Given the description of an element on the screen output the (x, y) to click on. 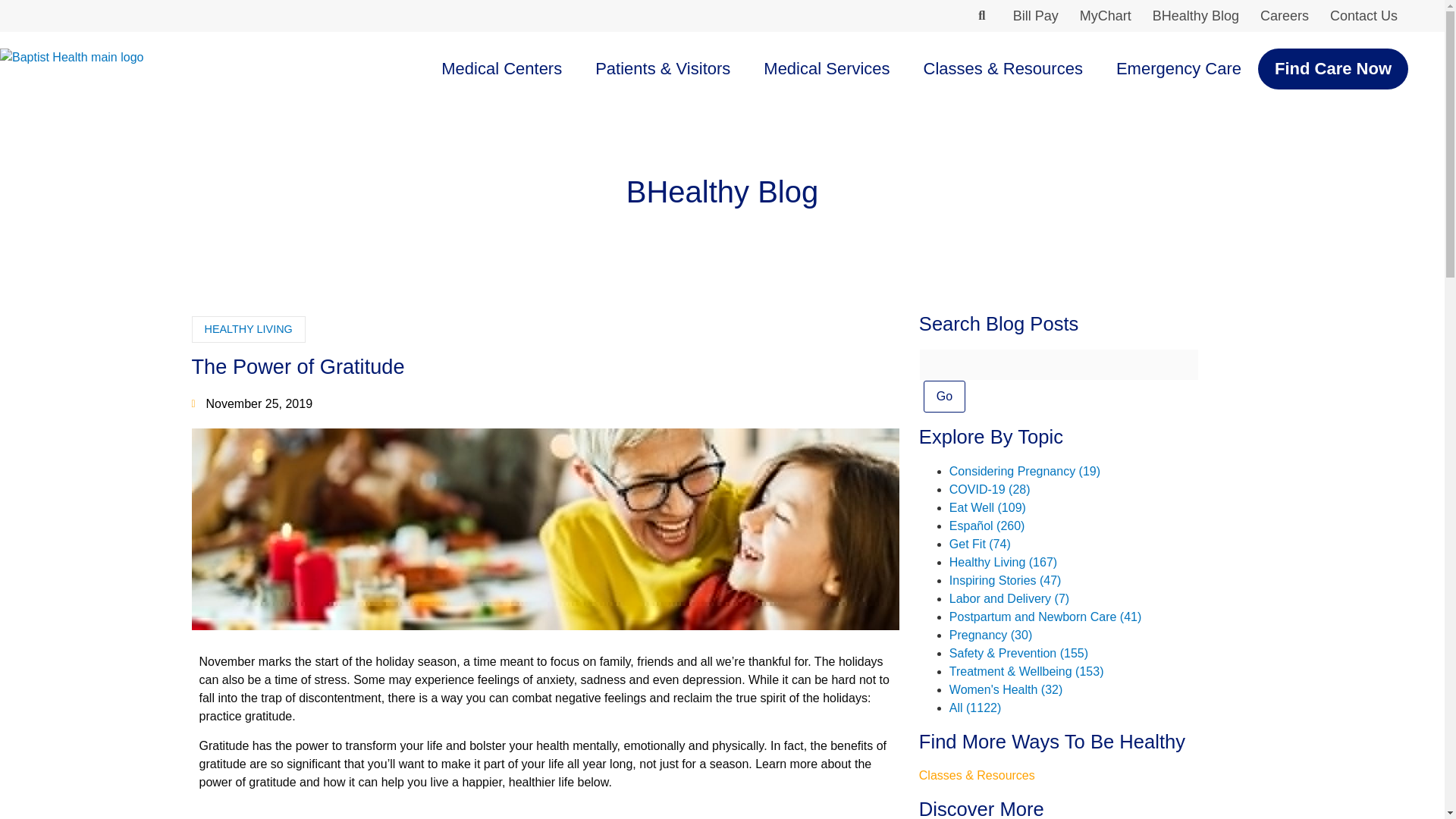
MyChart (1104, 15)
BHealthy Blog (1195, 15)
Go (944, 396)
Go (944, 396)
Emergency Care (1178, 68)
Bill Pay (1035, 15)
Careers (1284, 15)
Medical Services (825, 68)
Medical Centers (501, 68)
Contact Us (1363, 15)
